Given the description of an element on the screen output the (x, y) to click on. 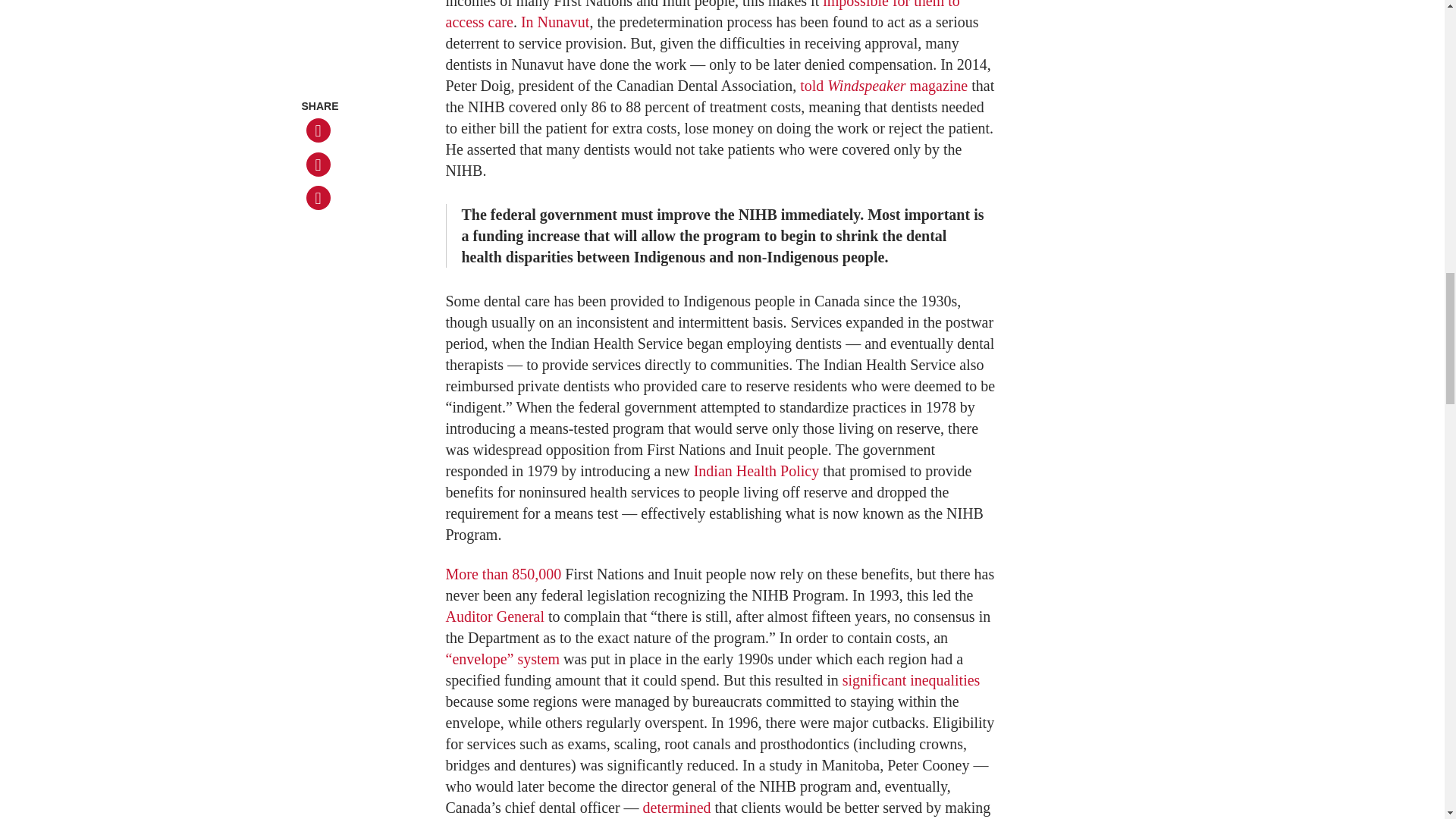
Indian Health Policy (756, 470)
significant inequalities (911, 679)
impossible for them to access care (702, 15)
determined (677, 807)
In Nunavut (555, 21)
Auditor General (494, 616)
More than 850,000 (503, 573)
told Windspeaker magazine (883, 85)
